Given the description of an element on the screen output the (x, y) to click on. 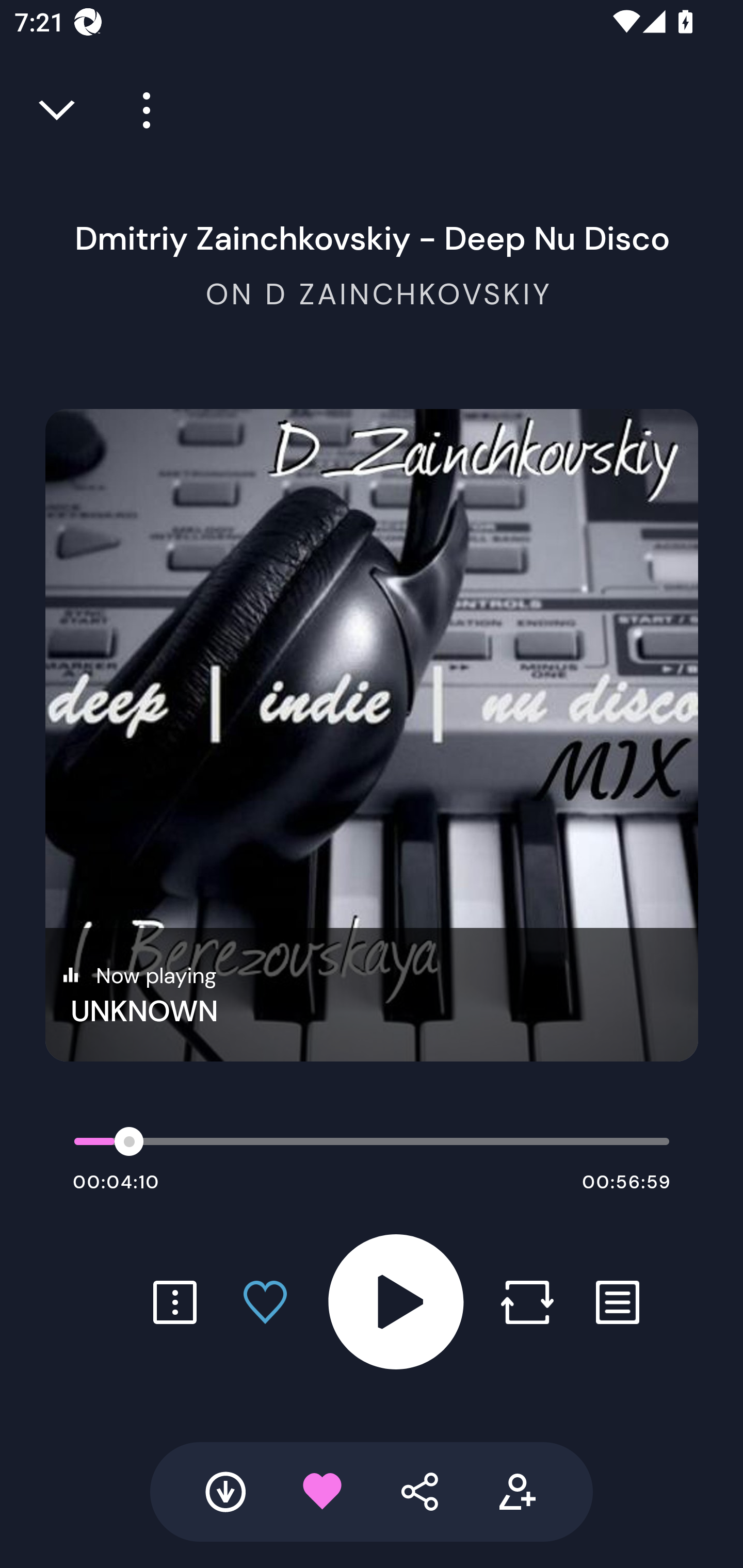
Close full player (58, 110)
Player more options button (139, 110)
Repost button (527, 1301)
